Given the description of an element on the screen output the (x, y) to click on. 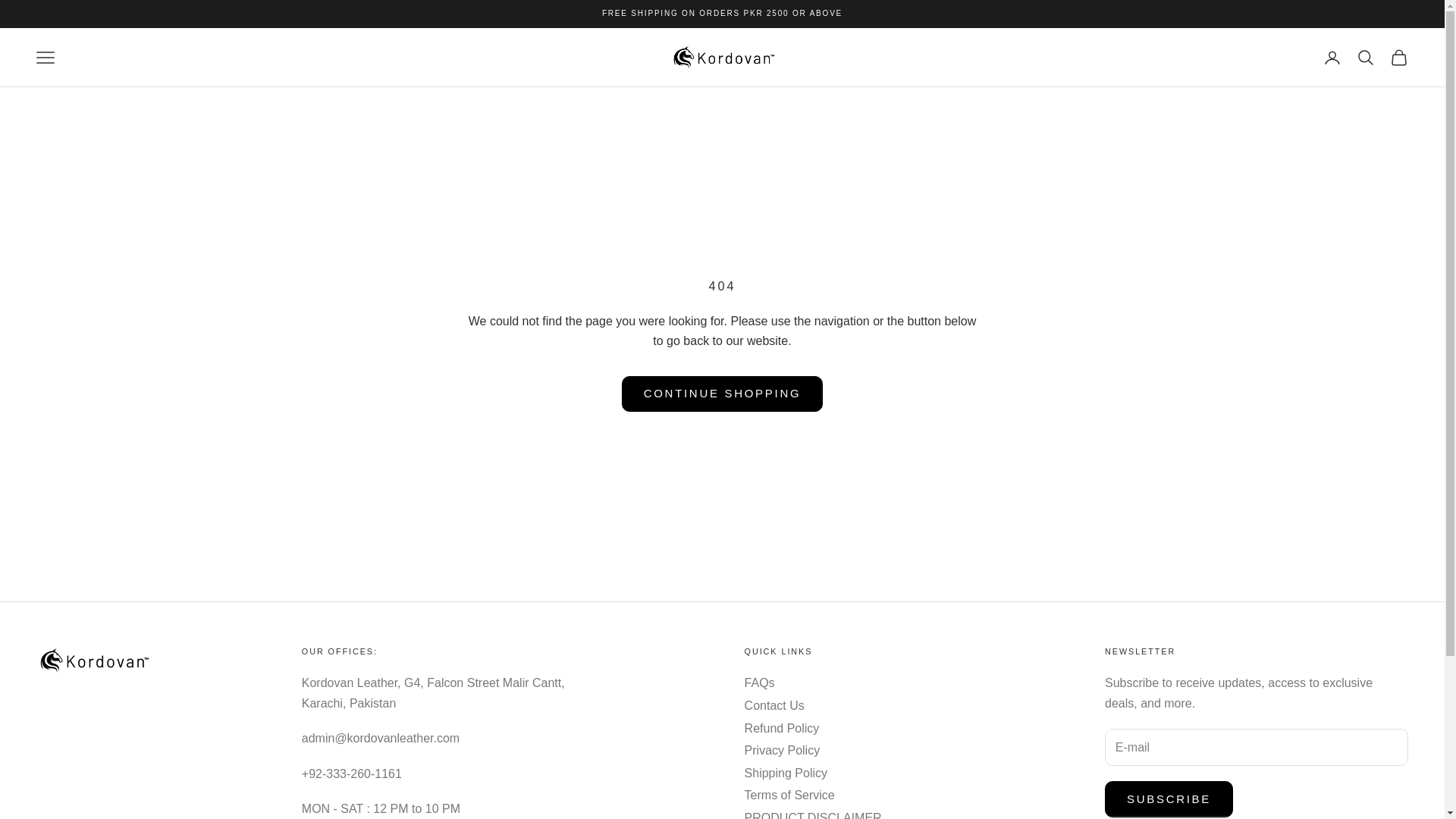
Open navigation menu (45, 57)
FAQs (759, 682)
Refund Policy (781, 727)
Terms of Service (789, 794)
Contact Us (774, 705)
CONTINUE SHOPPING (722, 393)
Shipping Policy (785, 772)
PRODUCT DISCLAIMER (813, 815)
Kordovan (721, 57)
Open account page (1331, 57)
Open cart (1398, 57)
Open search (1365, 57)
SUBSCRIBE (1169, 799)
Privacy Policy (782, 749)
